Given the description of an element on the screen output the (x, y) to click on. 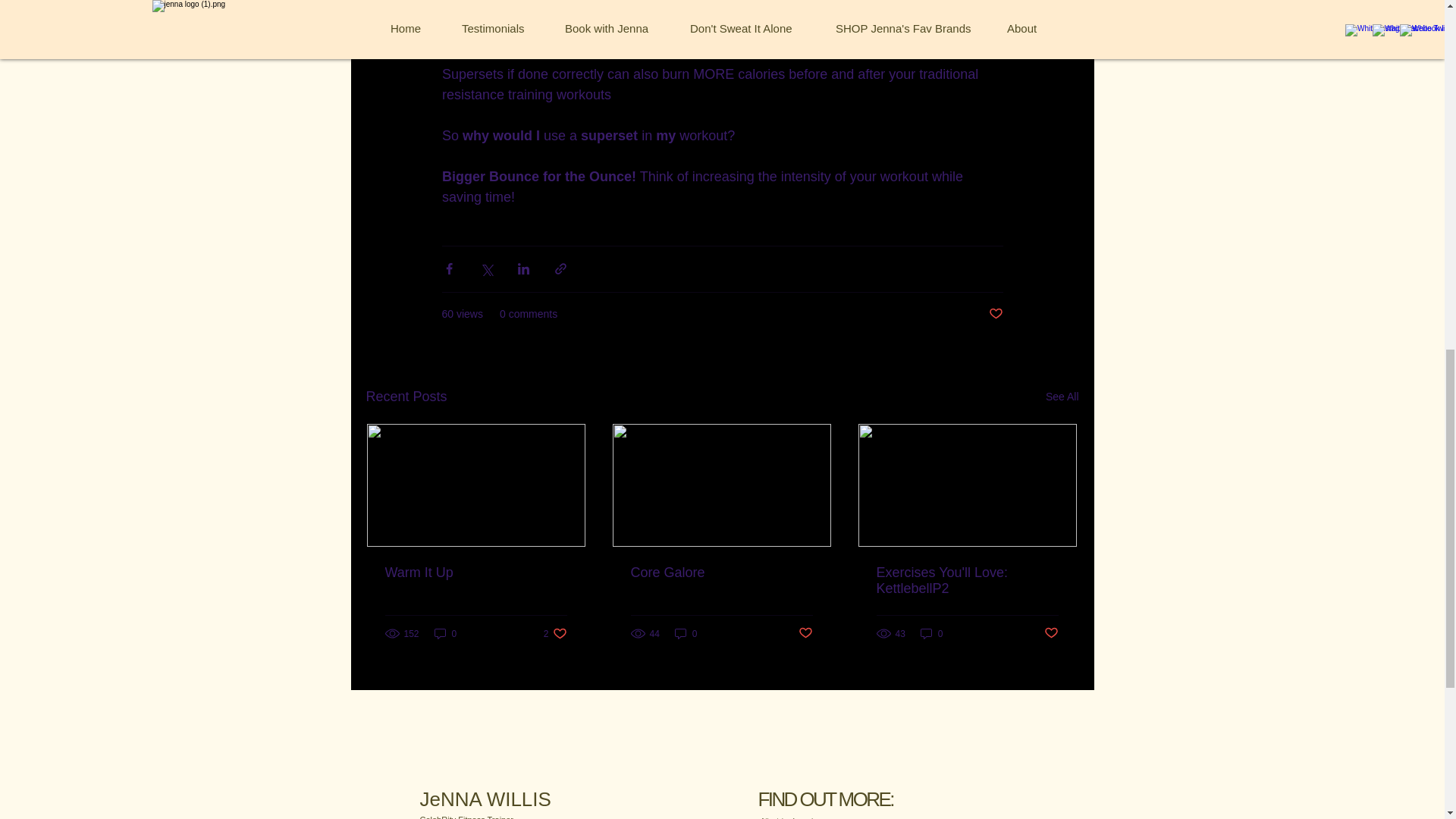
See All (1061, 396)
Exercises You'll Love: KettlebellP2 (967, 581)
0 (931, 633)
Post not marked as liked (1050, 633)
Post not marked as liked (804, 633)
0 (445, 633)
Core Galore (721, 572)
0 (685, 633)
Post not marked as liked (995, 314)
Warm It Up (476, 572)
